Given the description of an element on the screen output the (x, y) to click on. 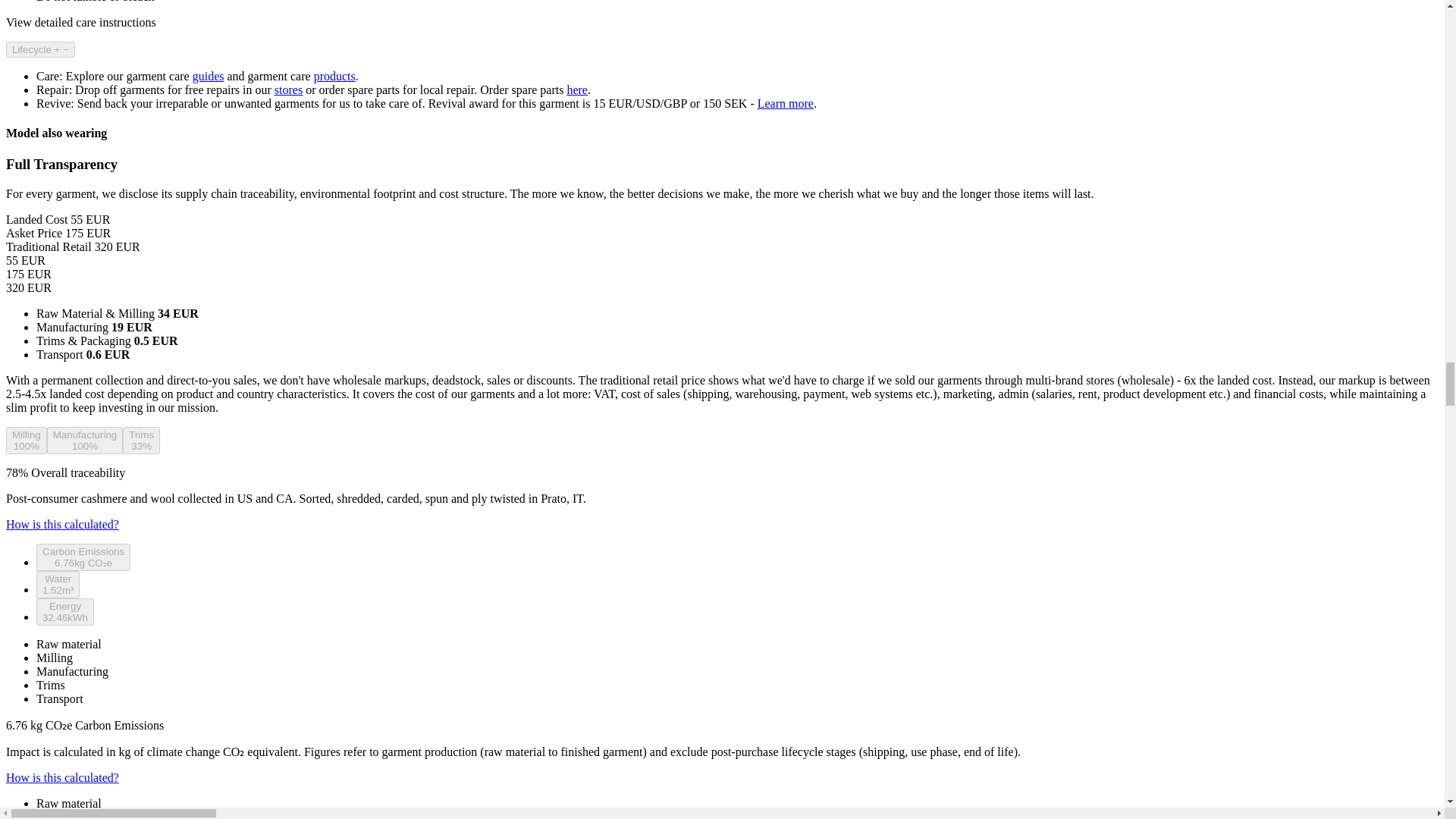
stores (288, 89)
How is this calculated? (62, 523)
here (577, 89)
Learn more (785, 103)
How is this calculated? (62, 777)
guides (208, 75)
products (334, 75)
